Given the description of an element on the screen output the (x, y) to click on. 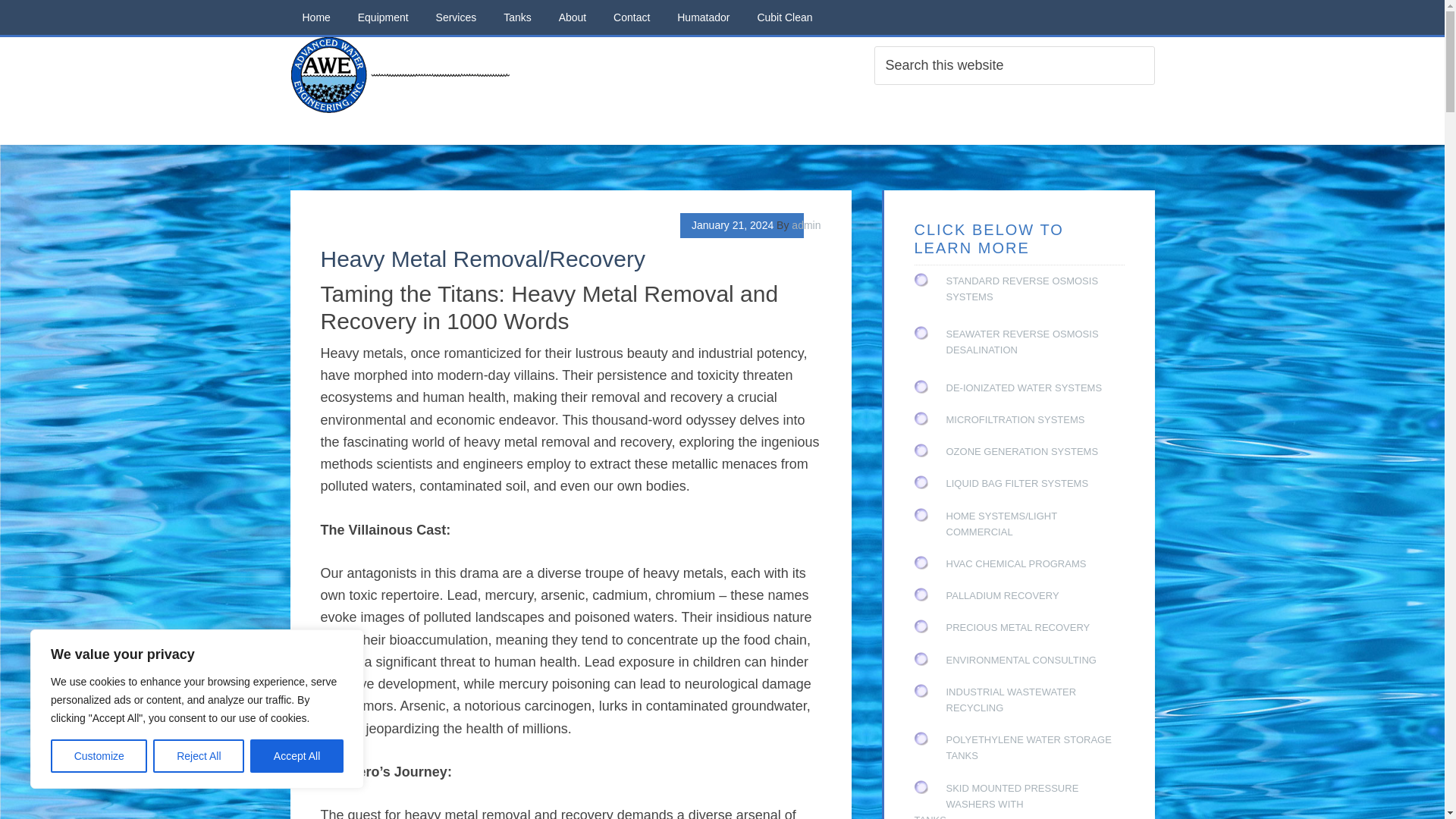
Services (456, 17)
About (572, 17)
Humatador (703, 17)
Customize (98, 756)
Reject All (198, 756)
Contact (631, 17)
Home (315, 17)
Accept All (296, 756)
Cubit Clean (784, 17)
ADVANCED WATER ENGINEERING (402, 74)
Tanks (517, 17)
Equipment (383, 17)
